Given the description of an element on the screen output the (x, y) to click on. 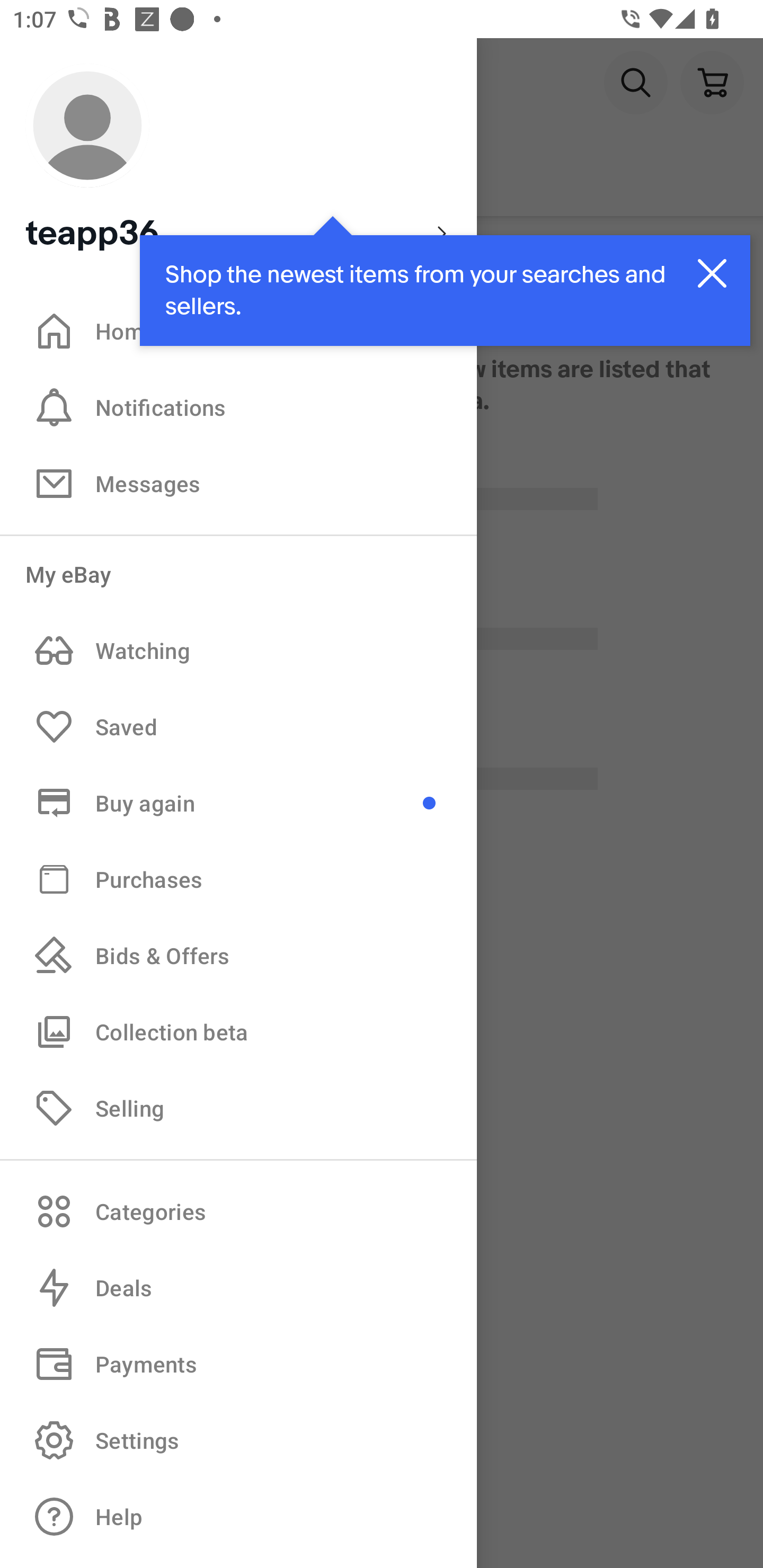
Notifications (238, 406)
Messages (238, 483)
Watching (238, 650)
Saved (238, 726)
Buy again Is new feature (238, 802)
Purchases (238, 878)
Bids & Offers (238, 955)
Collection beta (238, 1031)
Selling (238, 1107)
Categories (238, 1210)
Deals (238, 1287)
Payments (238, 1363)
Settings (238, 1439)
Help (238, 1516)
